Given the description of an element on the screen output the (x, y) to click on. 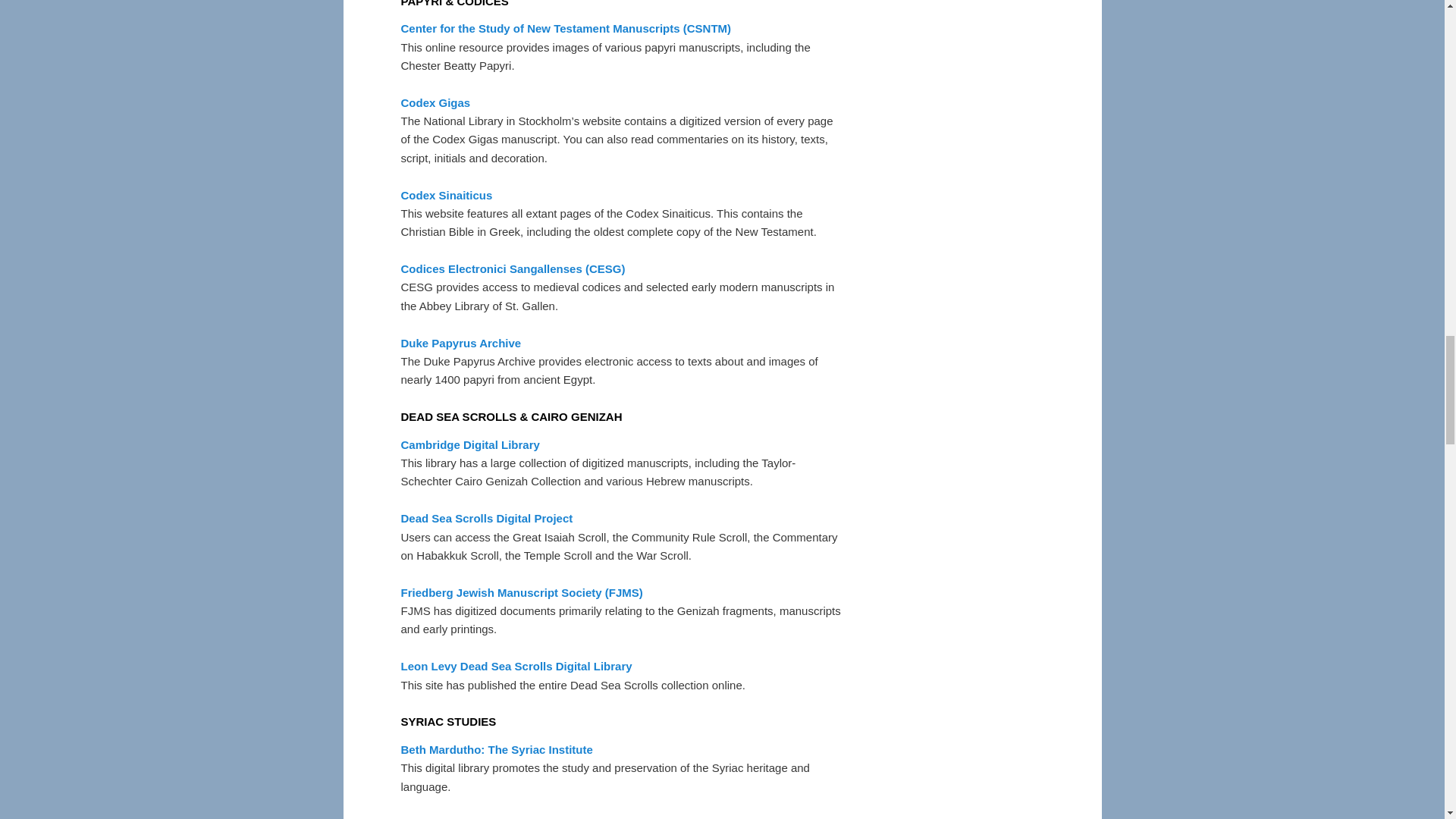
Codex Sinaiticus (446, 195)
Duke Papyrus Archive (460, 342)
Codex Gigas (435, 102)
